Given the description of an element on the screen output the (x, y) to click on. 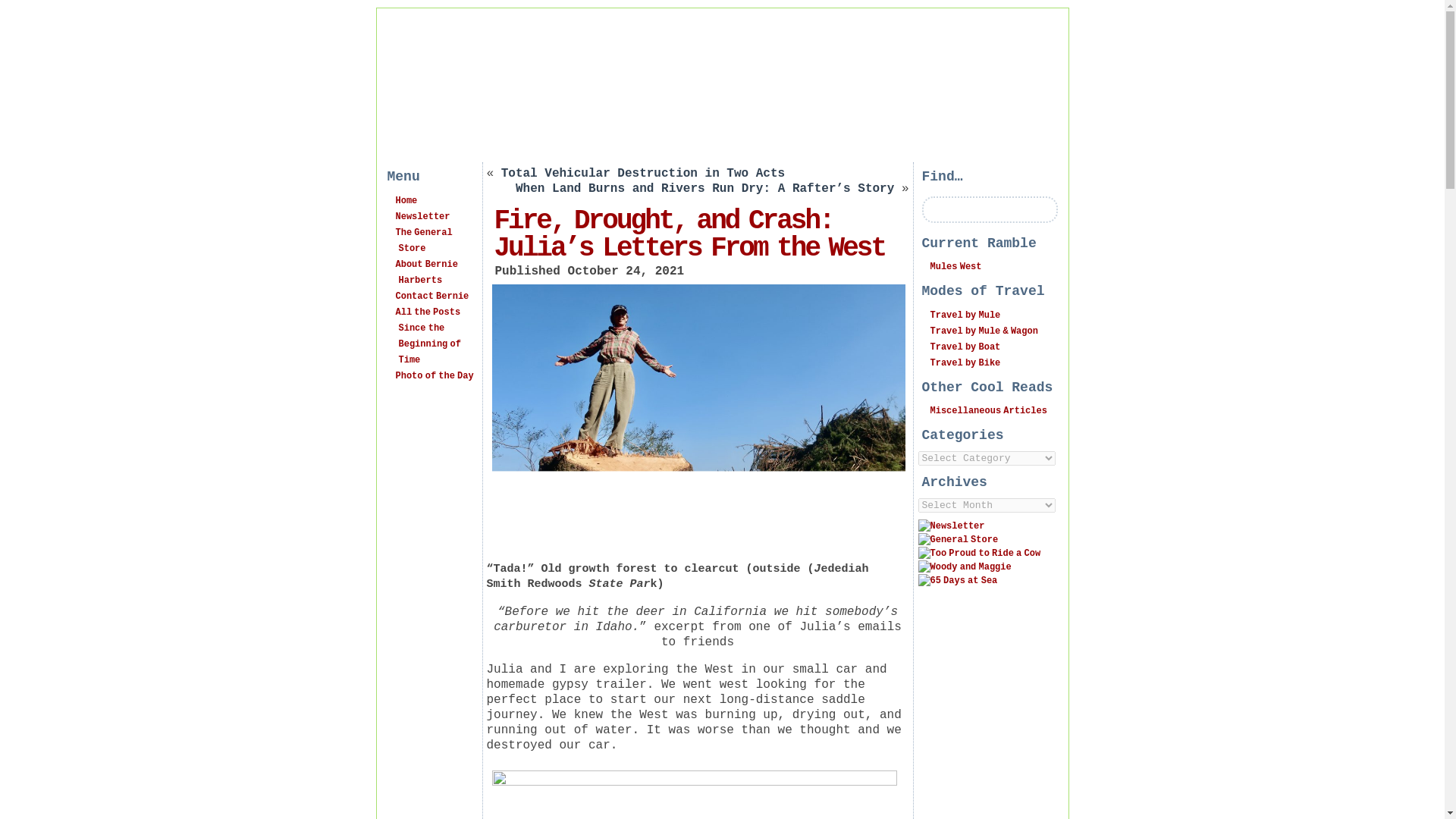
Total Vehicular Destruction in Two Acts (642, 173)
Travel by Mule (965, 315)
Newsletter (422, 216)
Total Vehicular Destruction in Two Acts (642, 173)
The General Store (424, 240)
All the Posts Since the Beginning of Time (428, 336)
11:42 am (625, 271)
Home (406, 200)
Travel by Boat (965, 347)
About Bernie Harberts (427, 272)
Miscellaneous Articles (988, 410)
Contact Bernie (432, 296)
Mules West (955, 266)
Travel by Bike (965, 362)
Photo of the Day (435, 376)
